Given the description of an element on the screen output the (x, y) to click on. 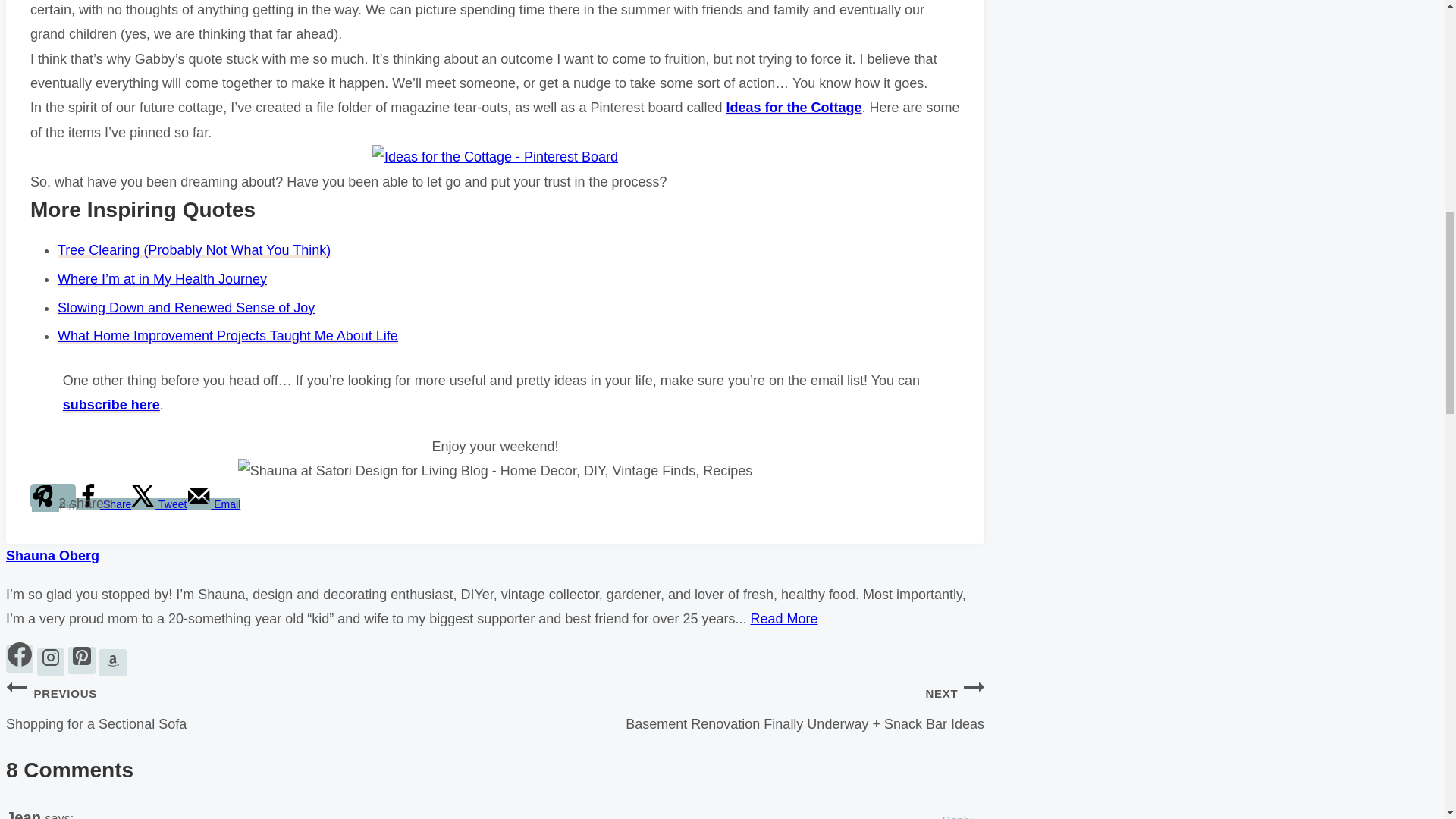
Facebook (19, 654)
Instagram (50, 657)
Pinterest (81, 655)
